Given the description of an element on the screen output the (x, y) to click on. 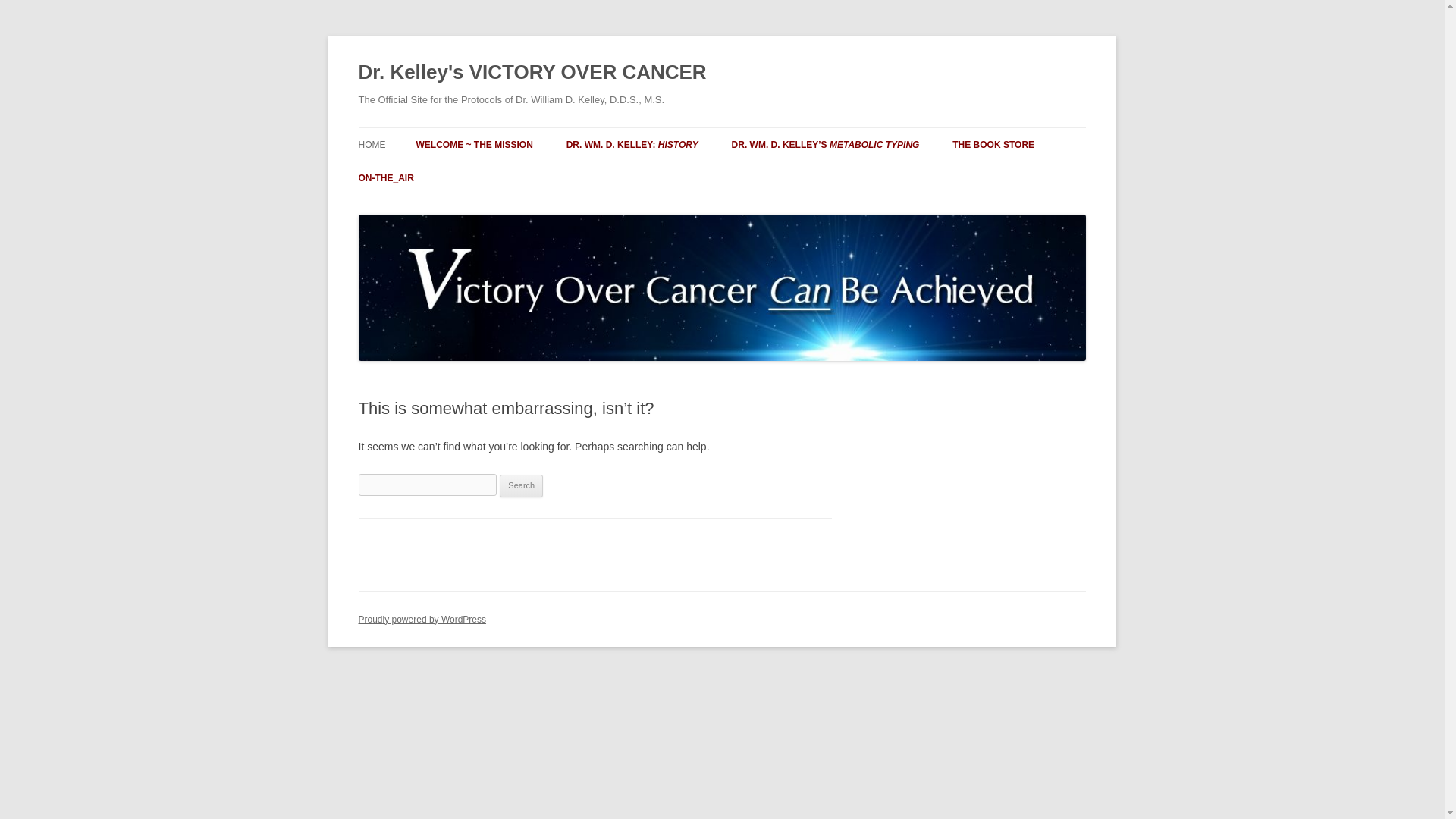
Search (521, 486)
Semantic Personal Publishing Platform (422, 619)
Dr. Kelley's VICTORY OVER CANCER (532, 72)
Search (521, 486)
DR. WM. D. KELLEY: HISTORY (632, 144)
Proudly powered by WordPress (422, 619)
THE BOOK STORE (992, 144)
